Given the description of an element on the screen output the (x, y) to click on. 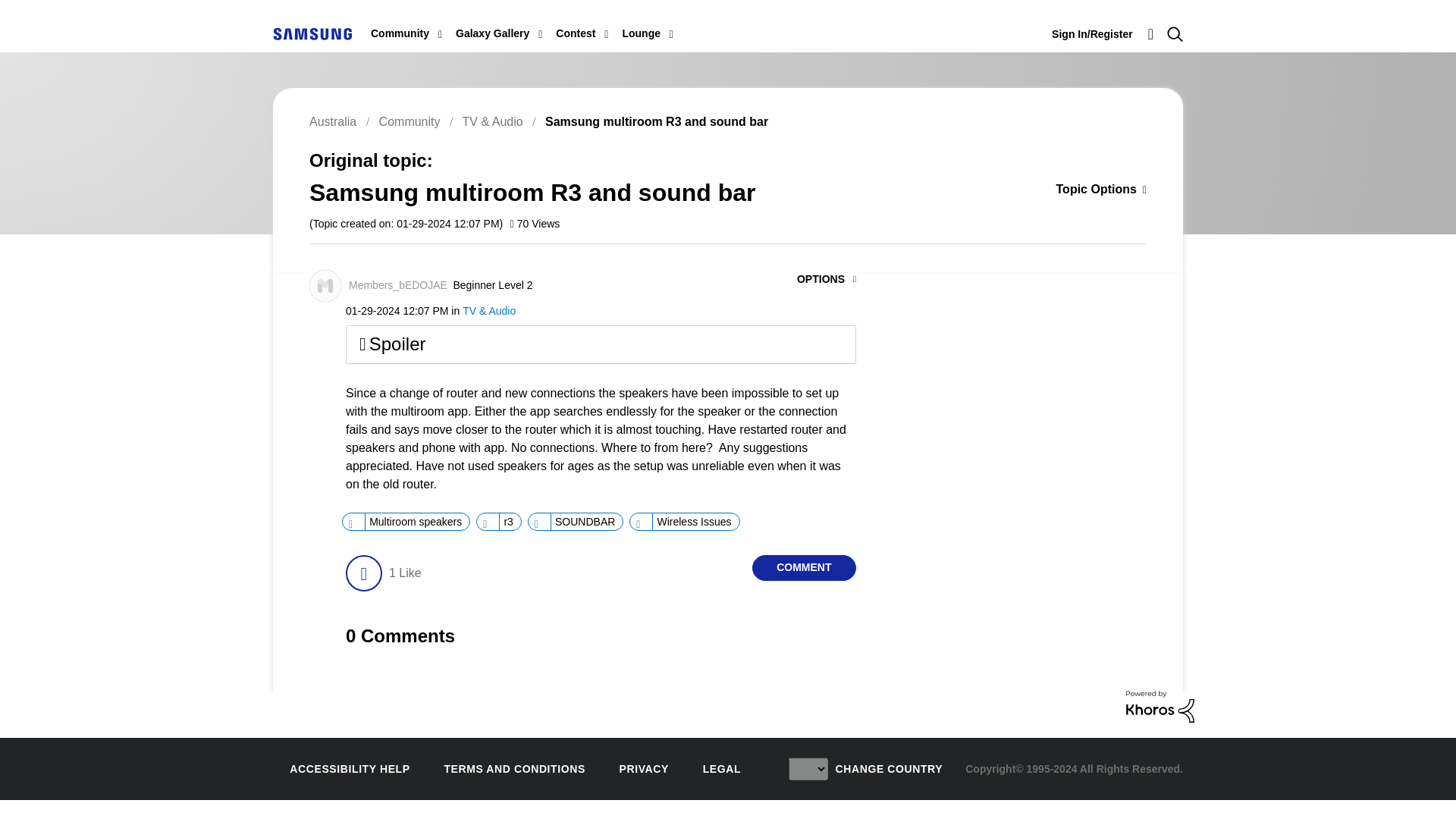
Community (400, 33)
Contest (575, 33)
Lounge (641, 33)
Galaxy Gallery (492, 33)
Australia (312, 33)
Contest (575, 33)
Galaxy Gallery (492, 33)
Australia (312, 33)
Community (400, 33)
